Given the description of an element on the screen output the (x, y) to click on. 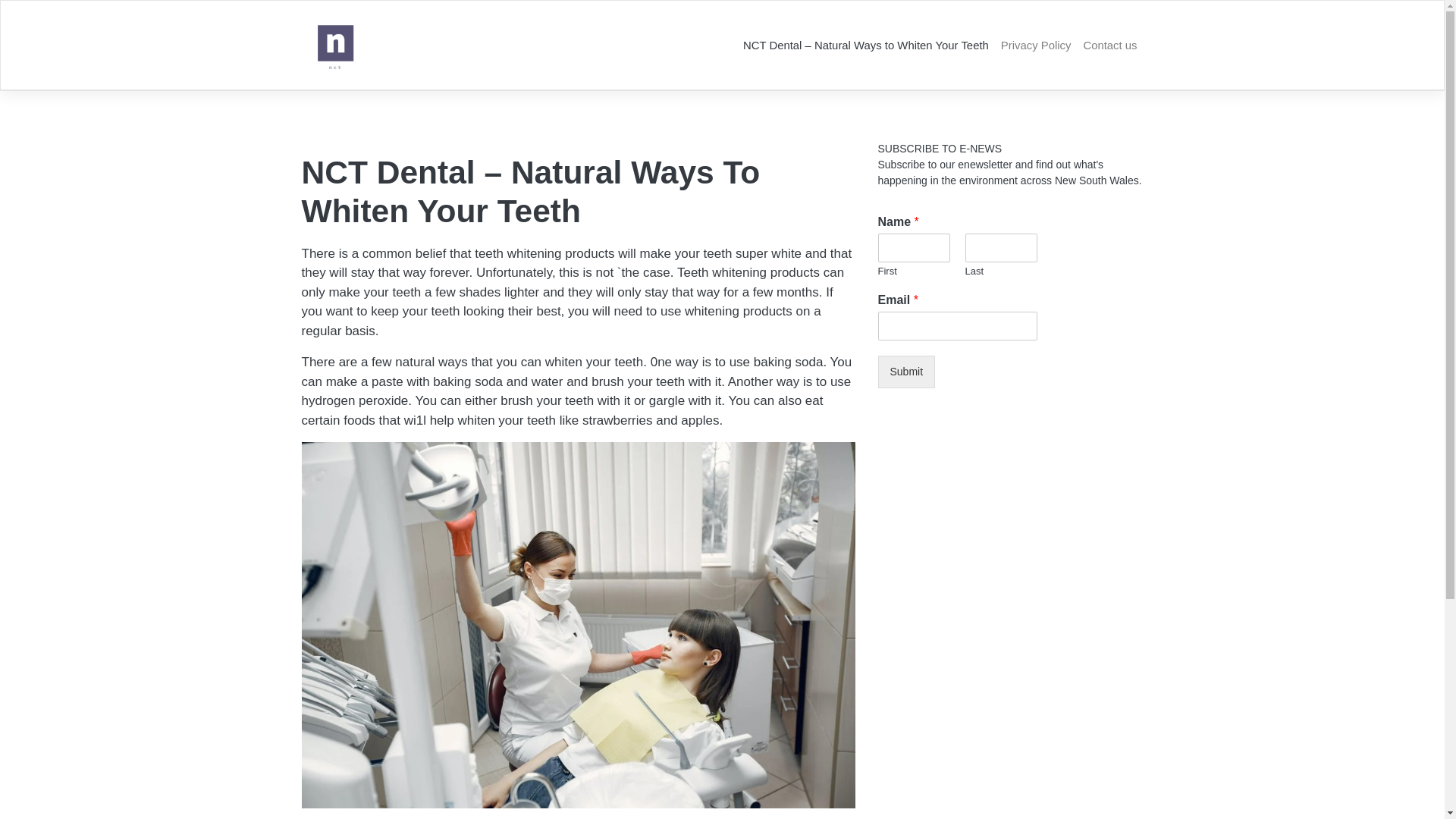
Contact us Element type: text (1109, 45)
Privacy Policy Element type: text (1035, 45)
Submit Element type: text (906, 371)
